Given the description of an element on the screen output the (x, y) to click on. 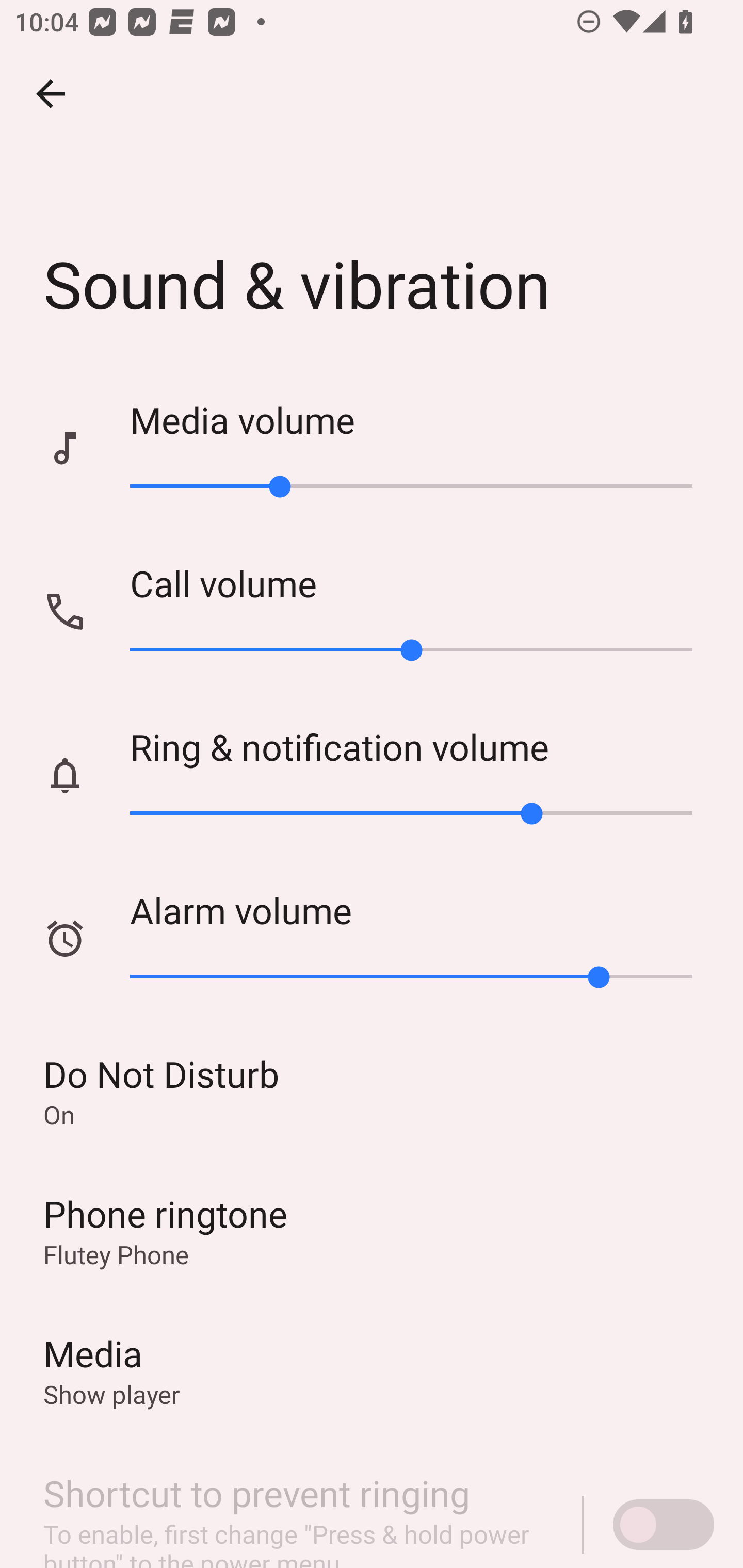
Navigate up (50, 93)
Do Not Disturb On (371, 1090)
Phone ringtone Flutey Phone (371, 1229)
Media Show player (371, 1369)
Shortcut to prevent ringing (648, 1503)
